Given the description of an element on the screen output the (x, y) to click on. 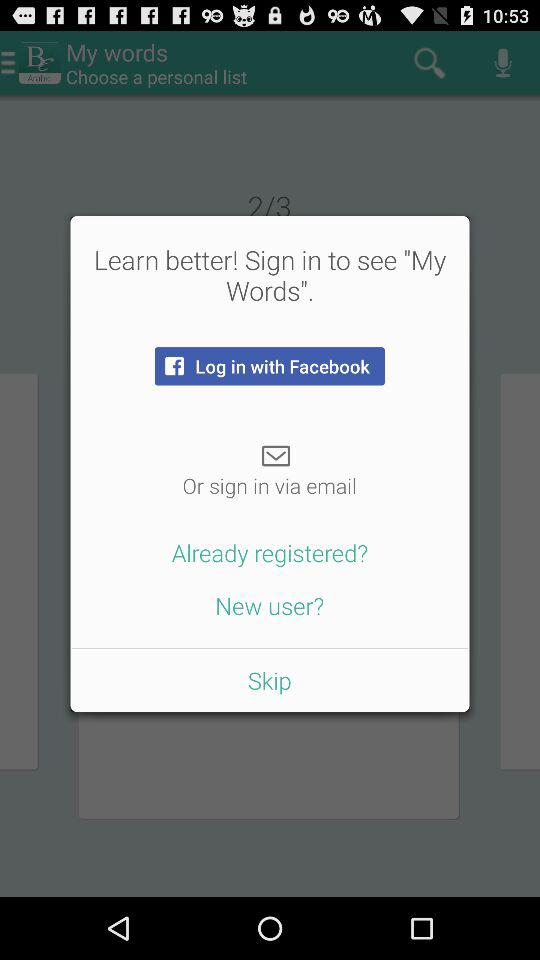
open the item below the or sign in app (269, 552)
